Given the description of an element on the screen output the (x, y) to click on. 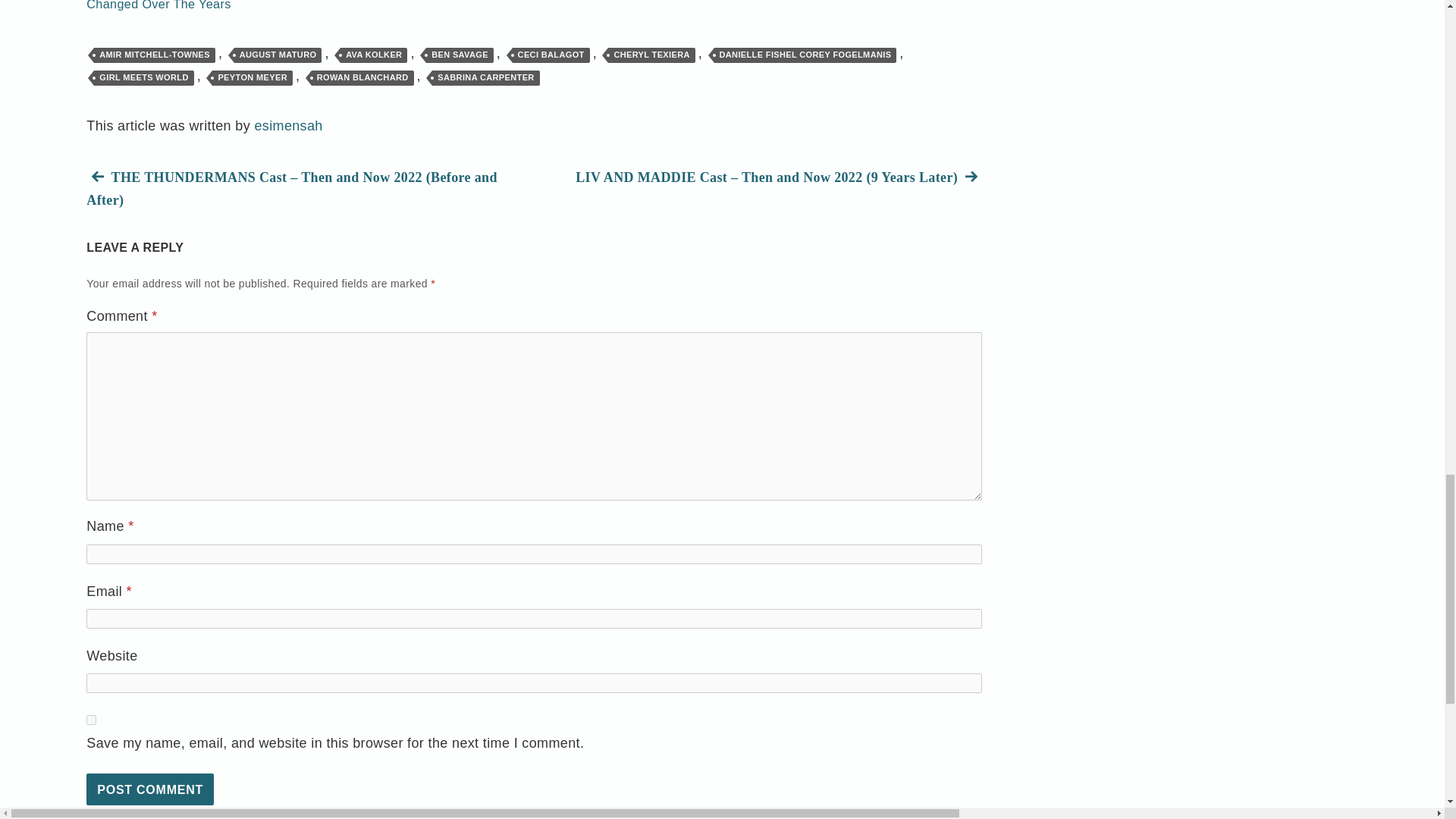
How Sabrina Carpenter Has Changed Over The Years (184, 7)
GIRL MEETS WORLD (143, 77)
ROWAN BLANCHARD (362, 77)
yes (90, 719)
SABRINA CARPENTER (485, 77)
DANIELLE FISHEL COREY FOGELMANIS (805, 55)
Post Comment (149, 789)
AVA KOLKER (373, 55)
AMIR MITCHELL-TOWNES (154, 55)
PEYTON MEYER (252, 77)
CHERYL TEXIERA (651, 55)
CECI BALAGOT (550, 55)
BEN SAVAGE (459, 55)
AUGUST MATURO (277, 55)
Post Comment (149, 789)
